Given the description of an element on the screen output the (x, y) to click on. 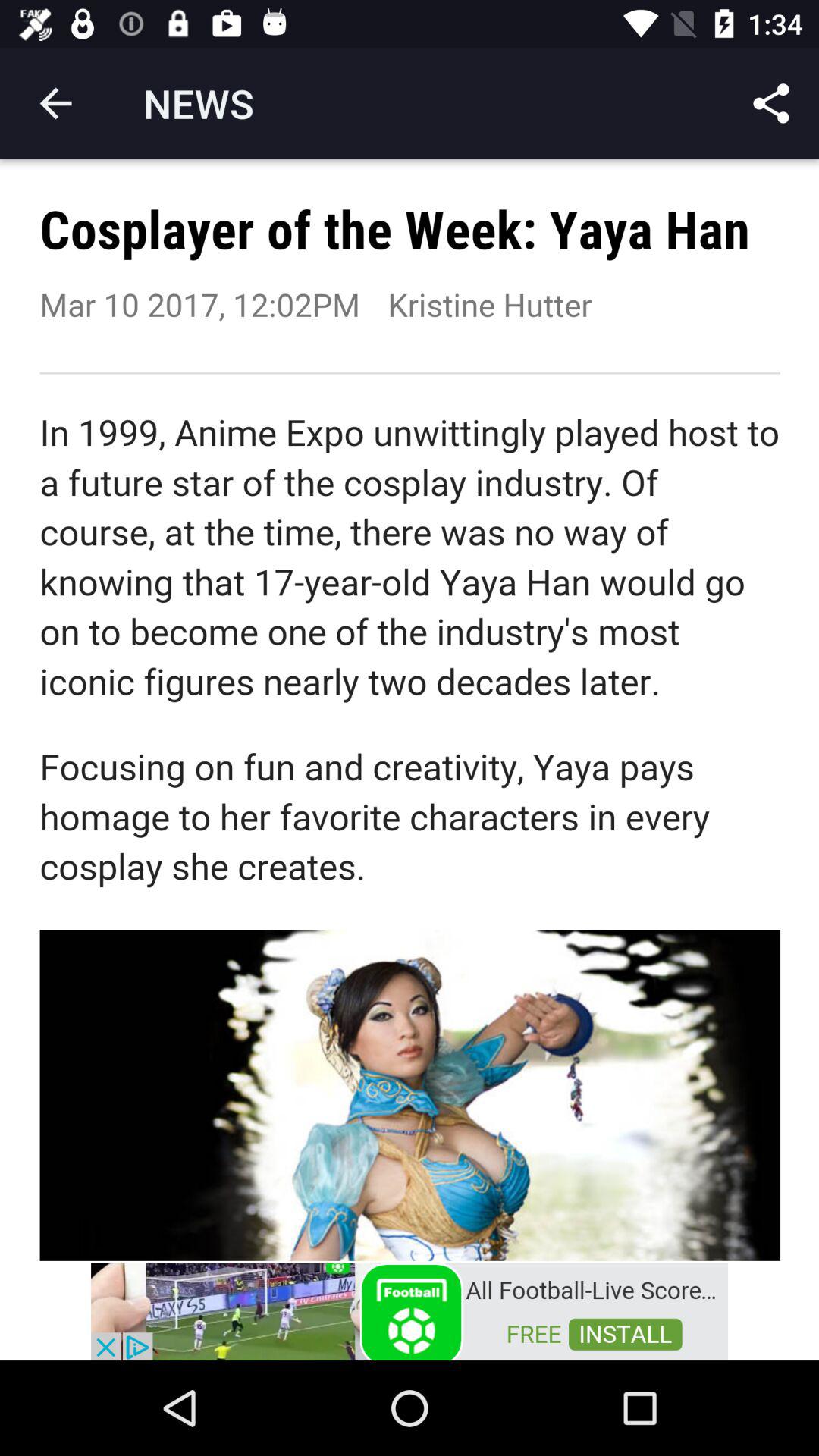
just a advertisement (409, 1310)
